Given the description of an element on the screen output the (x, y) to click on. 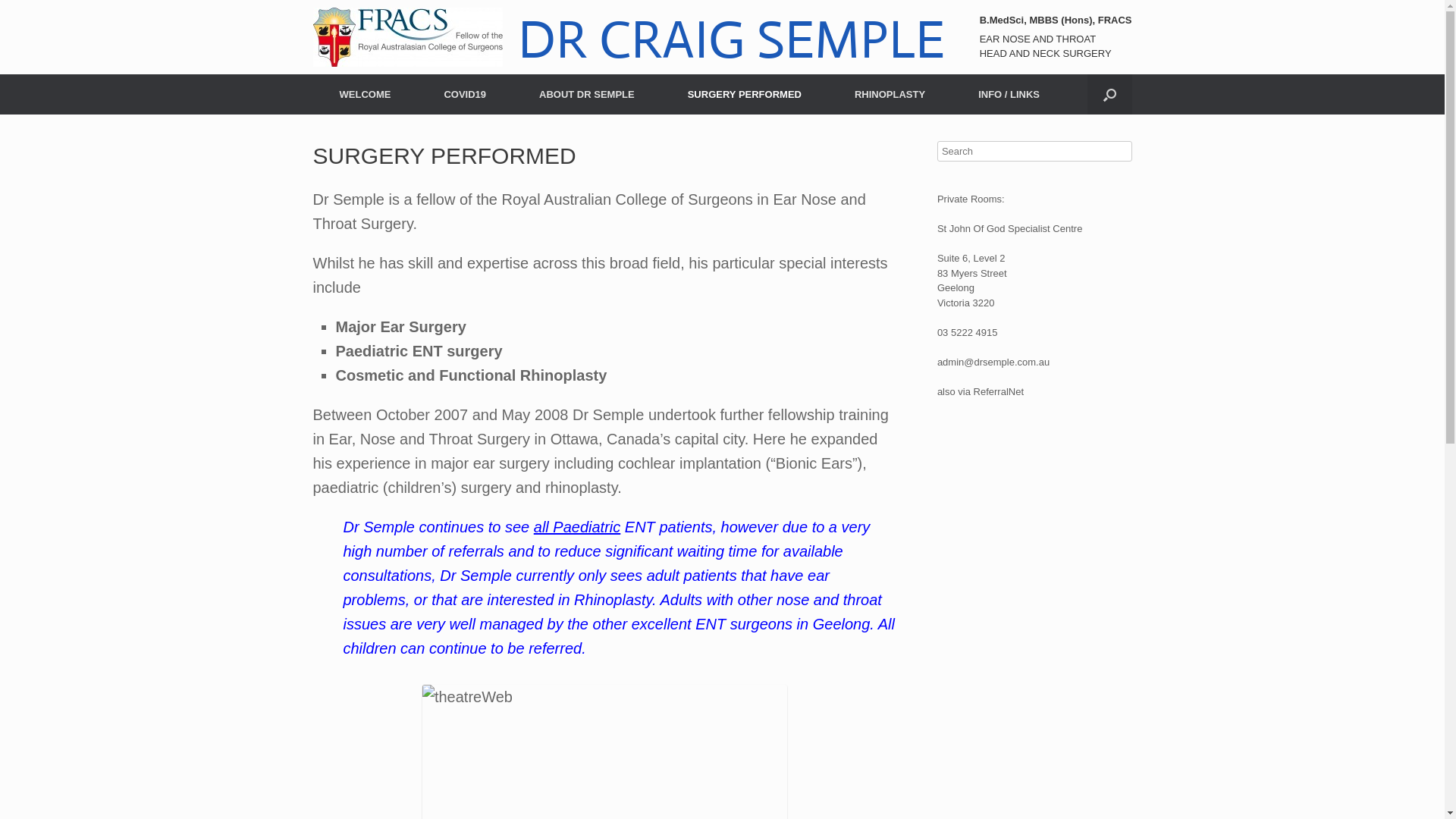
INFO / LINKS Element type: text (1008, 94)
WELCOME Element type: text (364, 94)
SURGERY PERFORMED Element type: text (744, 94)
COVID19 Element type: text (464, 94)
ABOUT DR SEMPLE Element type: text (586, 94)
RHINOPLASTY Element type: text (889, 94)
DR CRAIG SEMPLE Element type: text (628, 36)
